Given the description of an element on the screen output the (x, y) to click on. 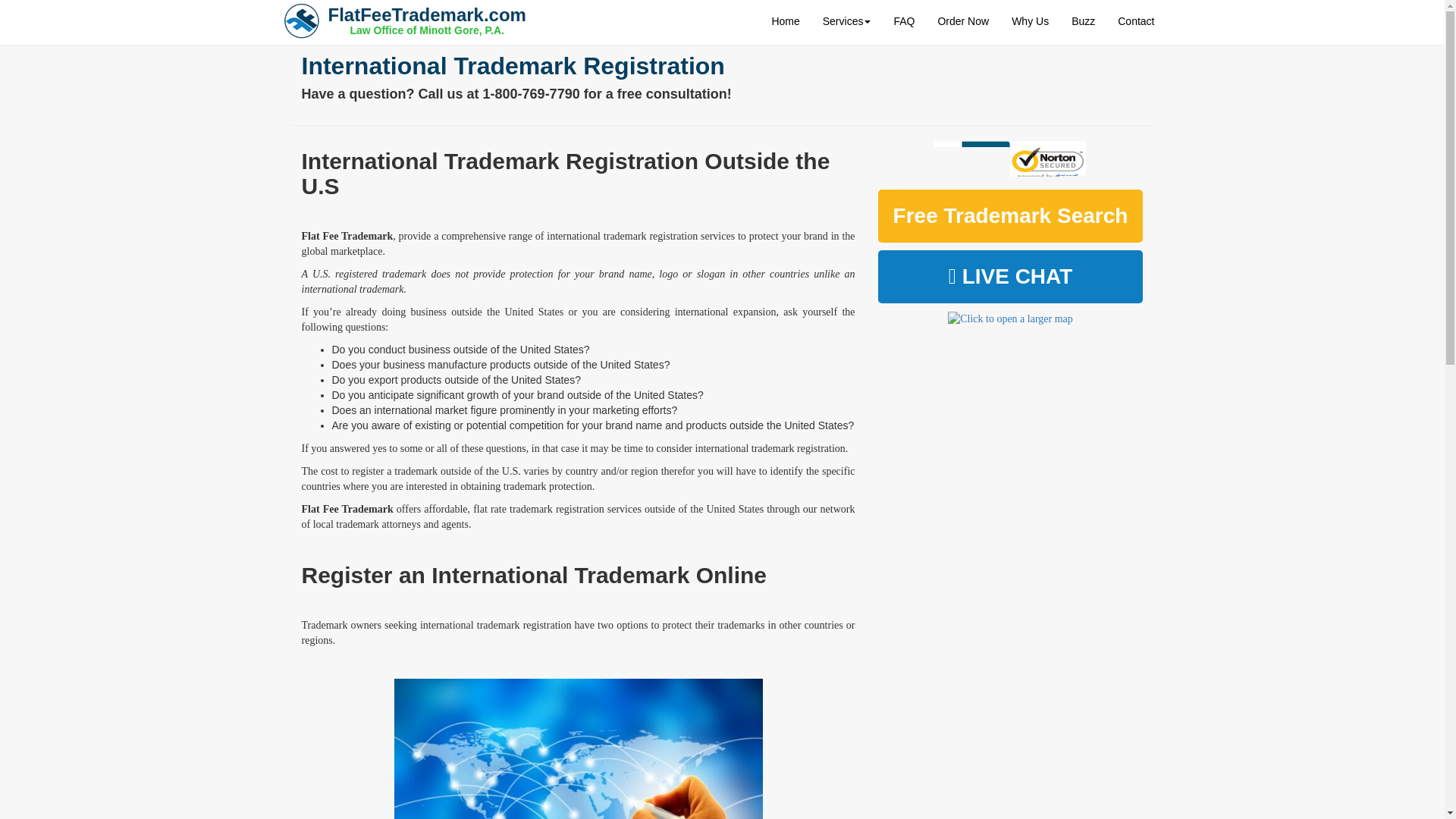
Buzz (1082, 20)
Order Now (963, 20)
Free Trademark Search (1009, 215)
Why Us (1029, 20)
LIVE CHAT (1009, 276)
Home (785, 20)
FAQ (408, 18)
Contact (904, 20)
Home (1136, 20)
